Given the description of an element on the screen output the (x, y) to click on. 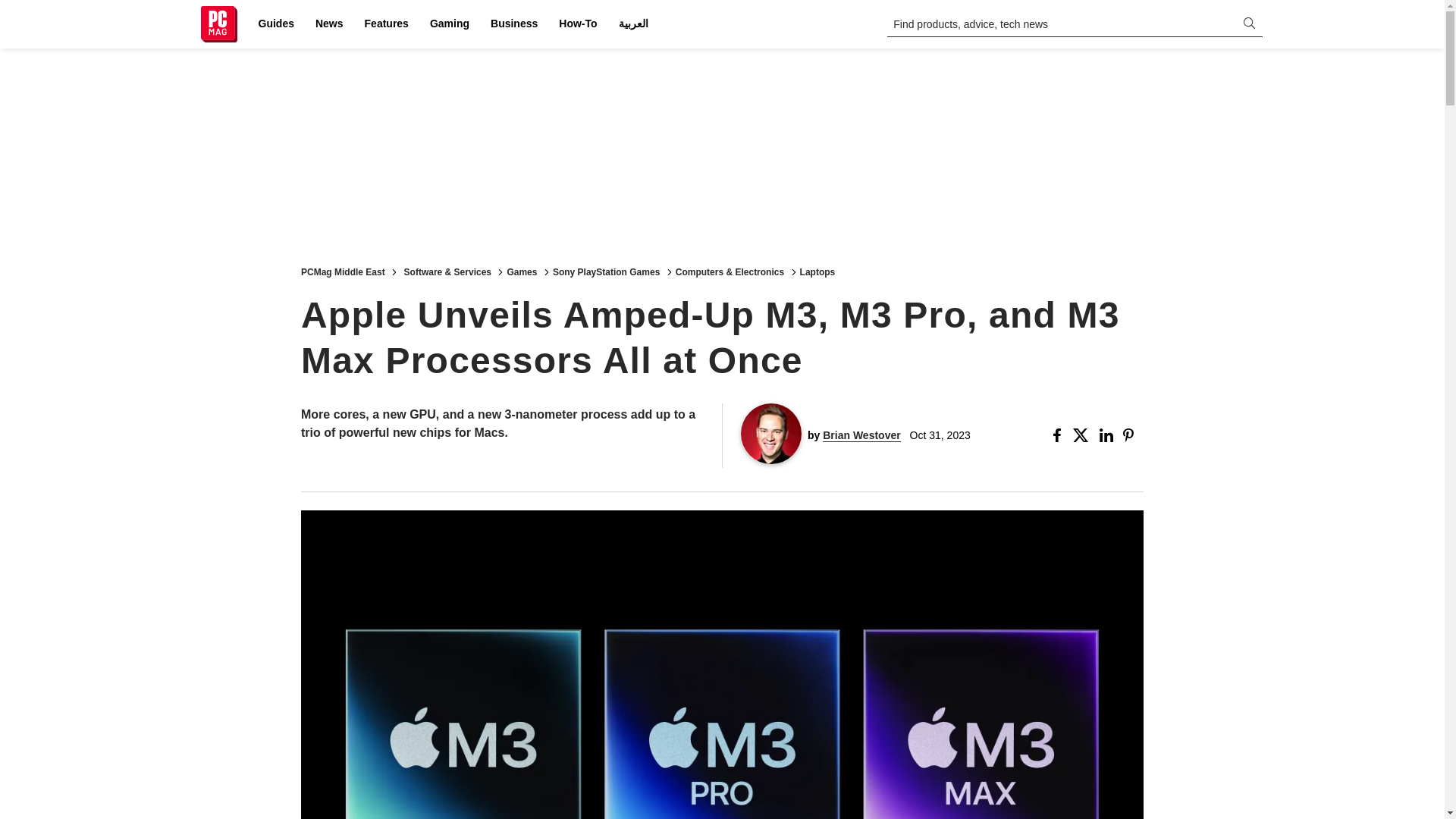
Guides (275, 24)
Gaming (449, 24)
Business (513, 24)
PCMag Middle East (343, 270)
How-To (577, 24)
Share this Story on Facebook (1059, 435)
Laptops (817, 270)
Sony PlayStation Games (606, 270)
Share this Story on X (1083, 435)
News (328, 24)
Games (521, 270)
Share this Story on Linkedin (1107, 435)
Search (21, 7)
Features (386, 24)
Share this Story on Pinterest (1132, 435)
